Given the description of an element on the screen output the (x, y) to click on. 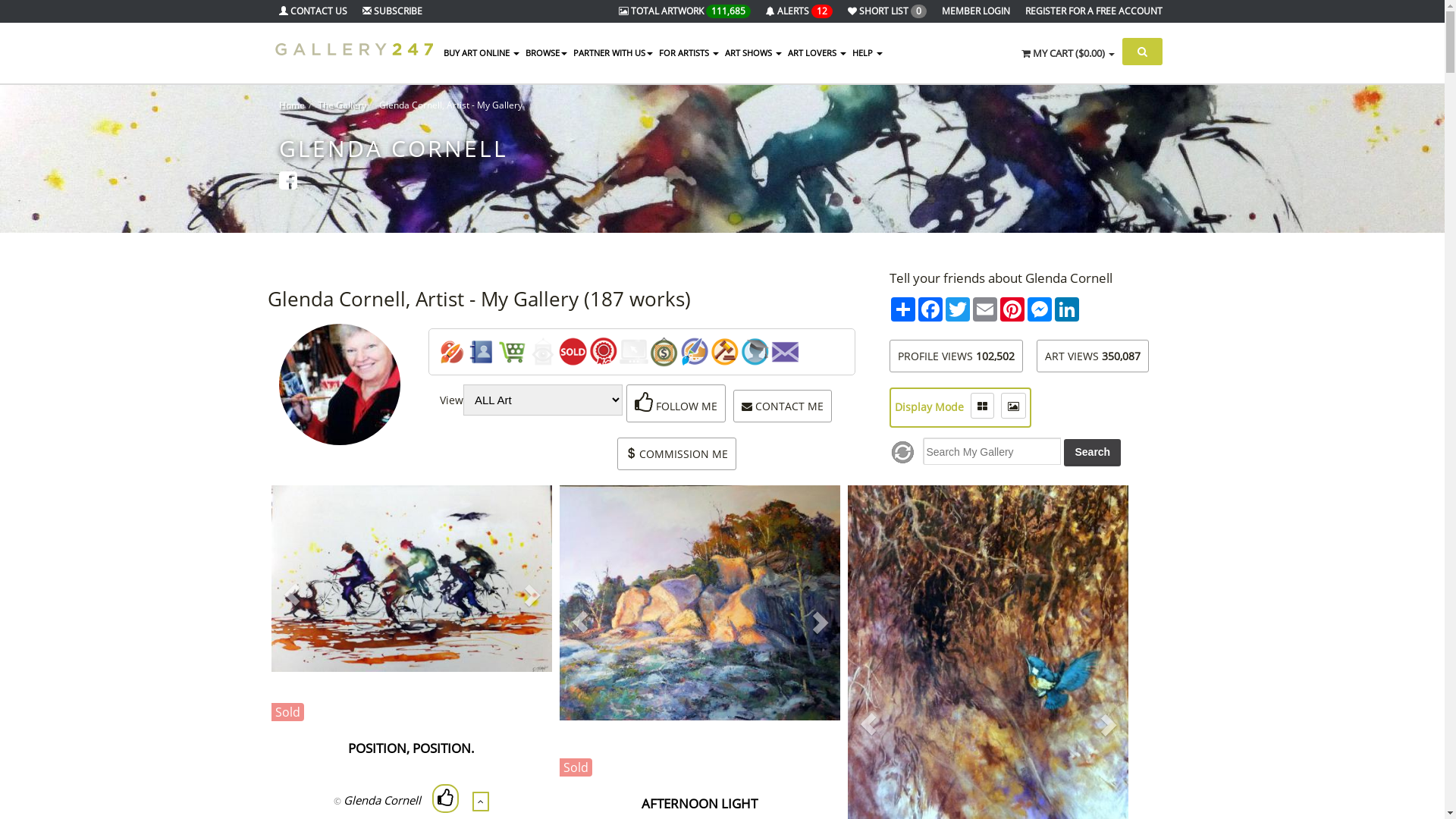
PARTNER WITH US Element type: text (612, 52)
HELP Element type: text (867, 52)
Pinterest Element type: text (1011, 309)
Email Element type: text (983, 309)
COMMISSION ME Element type: text (676, 453)
I Accept Commissioned Work Element type: hover (664, 351)
Next Element type: text (530, 593)
FOR ARTISTS Element type: text (688, 52)
Contact this artist  Element type: hover (785, 351)
Glenda Cornell Element type: text (381, 799)
CONTACT US Element type: text (320, 11)
I am an Art Judge Element type: hover (724, 351)
FOLLOW ME Element type: text (675, 405)
Search Element type: text (1091, 452)
CONTACT ME Element type: text (782, 405)
ART LOVERS Element type: text (816, 52)
Home Element type: text (291, 104)
I am an Art Teacher  Element type: hover (755, 351)
Facebook Element type: text (929, 309)
BROWSE Element type: text (545, 52)
Share Element type: text (902, 309)
MY CART ($0.00) Element type: text (1067, 50)
Messenger Element type: text (1038, 309)
SUBSCRIBE Element type: text (399, 11)
Twitter Element type: text (956, 309)
TOTAL ARTWORK 111,685 Element type: text (691, 11)
Previous Element type: text (292, 593)
Next Element type: text (818, 621)
I do demonstrations Element type: hover (694, 351)
Artist's Blog Not Available  Element type: hover (633, 351)
View My Sold Items Element type: hover (573, 351)
View Gallery  Element type: hover (451, 351)
MEMBER LOGIN Element type: text (983, 11)
Previous Element type: text (580, 621)
SHORT LIST 0 Element type: text (894, 11)
POSITION, POSITION. Element type: text (411, 747)
View Artits Bio Element type: hover (482, 351)
REGISTER FOR A FREE ACCOUNT Element type: text (1101, 11)
ART SHOWS Element type: text (752, 52)
BUY ART ONLINE Element type: text (480, 52)
Not Currently Exhibiting Anywhere  Element type: hover (542, 351)
List Element type: hover (982, 405)
The Gallery Element type: text (340, 104)
AFTERNOON LIGHT Element type: text (699, 803)
Pictures Element type: hover (1013, 405)
View My Prize Winners Element type: hover (603, 351)
LinkedIn Element type: text (1065, 309)
Reset Search Criteria Element type: hover (901, 452)
 Items Available For Sale Element type: hover (512, 351)
ALERTS 12 Element type: text (806, 11)
